Given the description of an element on the screen output the (x, y) to click on. 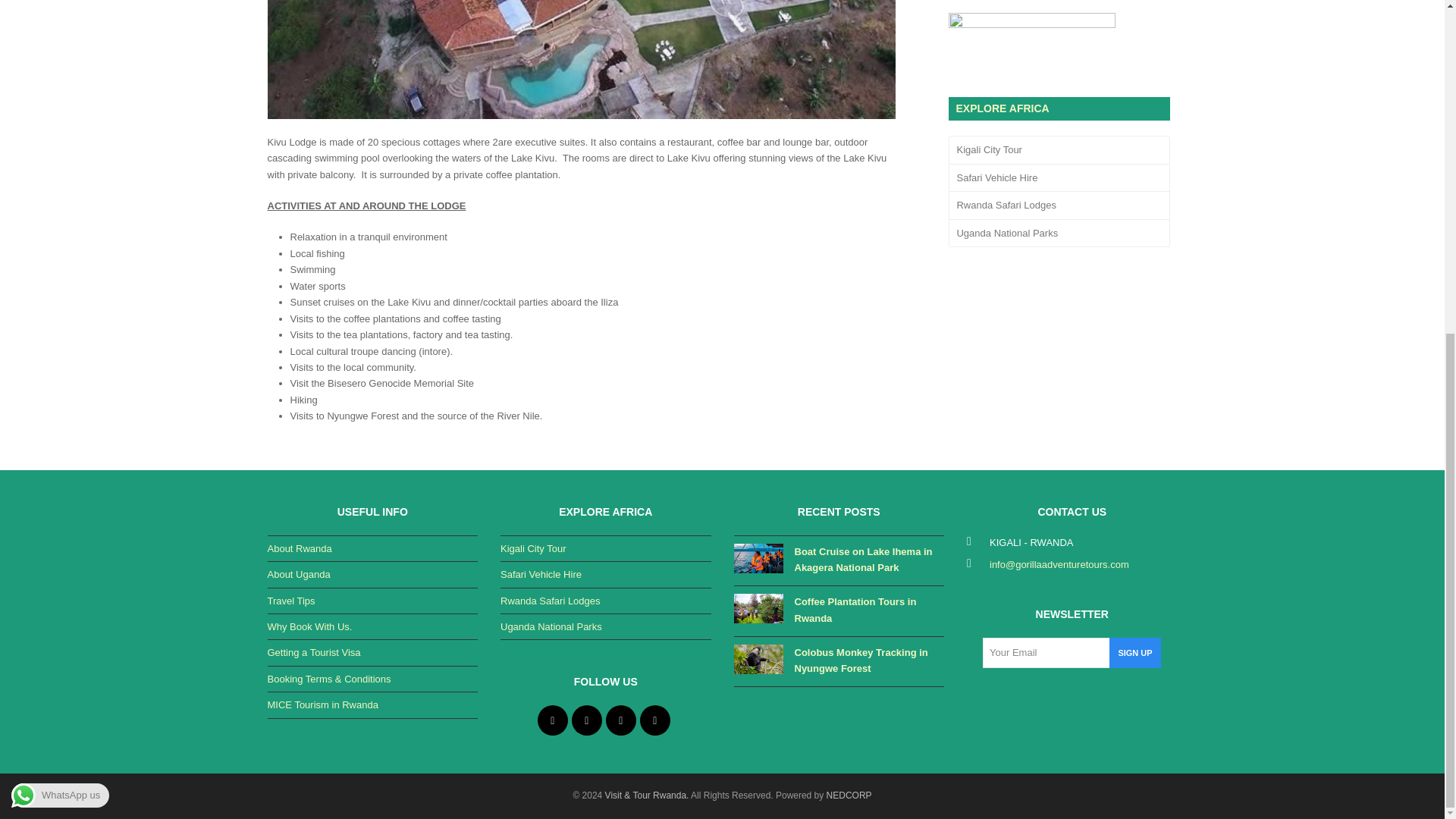
Getting a Tourist Visa (312, 652)
Colobus Monkey Tracking in Nyungwe Forest (758, 661)
Twitter (552, 720)
About Rwanda (298, 548)
LinkedIn (620, 720)
Facebook (587, 720)
Uganda National Parks (1058, 233)
Coffee Plantation Tours in Rwanda (758, 610)
Rwanda Safari Lodges (549, 600)
Uganda National Parks (551, 626)
Why Book With Us. (309, 626)
Twitter (552, 720)
Youtube (654, 720)
Boat Cruise on Lake Ihema in Akagera National Park (758, 560)
Kigali City Tour (1058, 149)
